Given the description of an element on the screen output the (x, y) to click on. 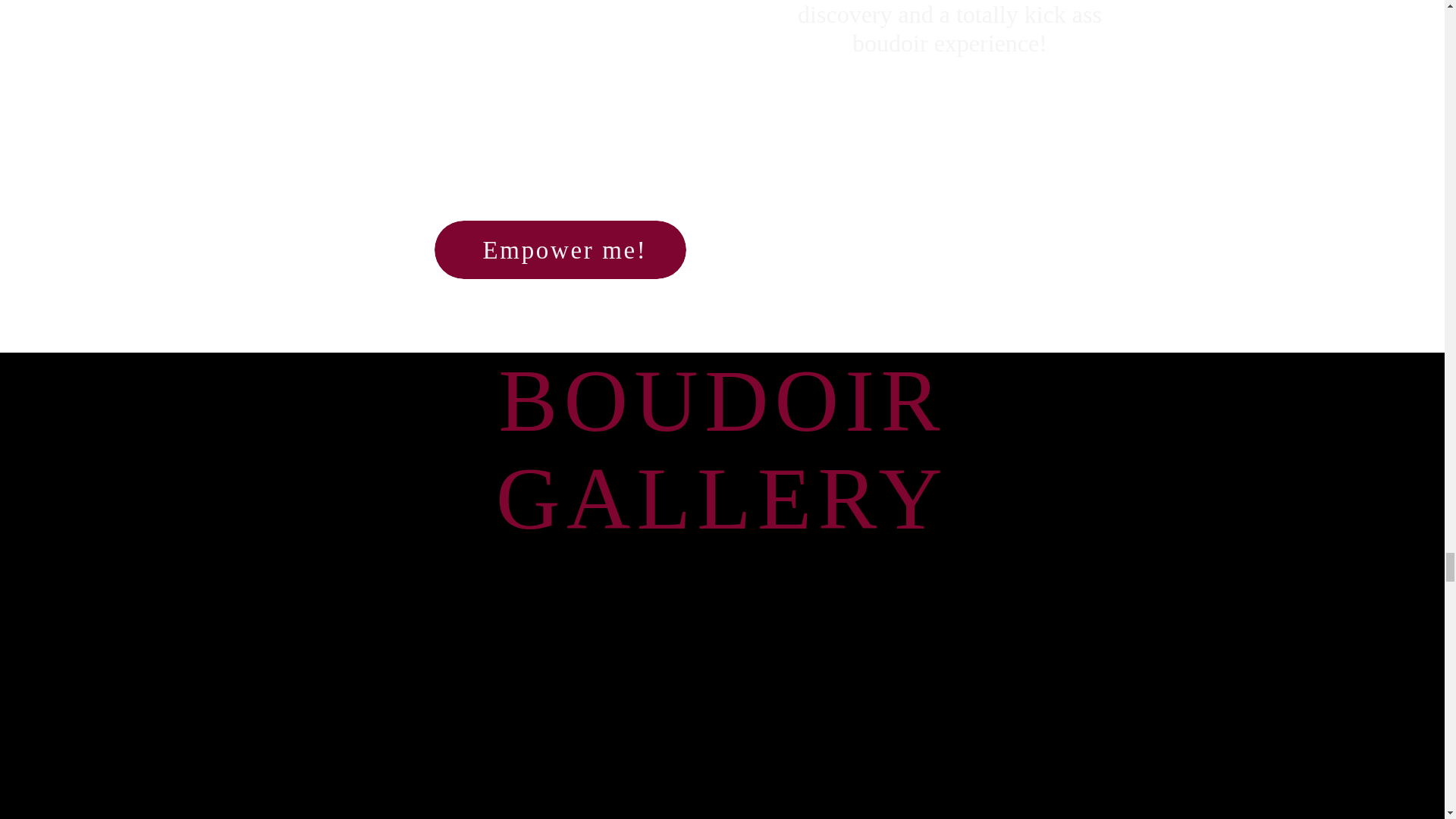
Empower me! (564, 249)
